Given the description of an element on the screen output the (x, y) to click on. 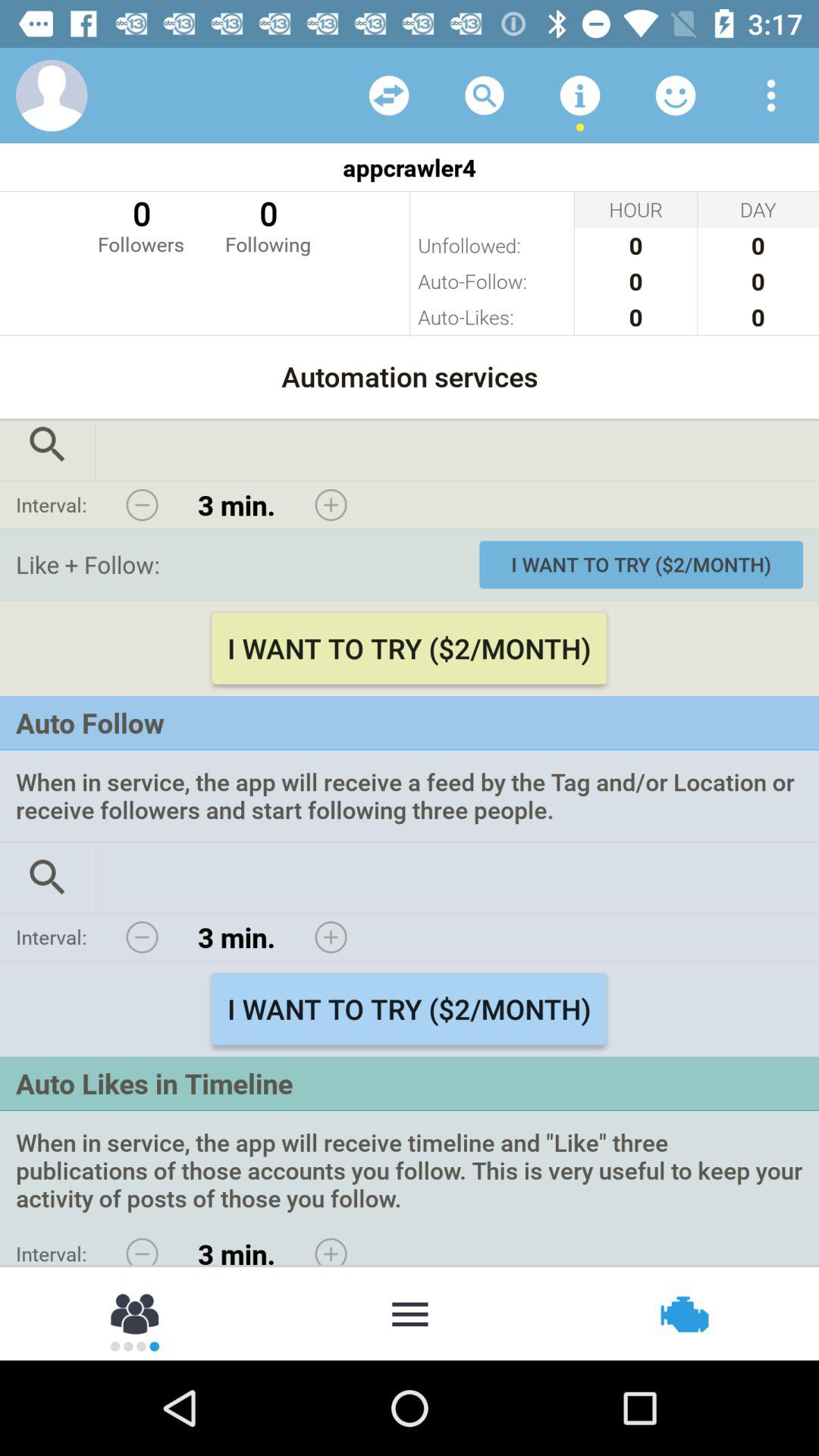
tap icon to the right of 0
followers (268, 224)
